Given the description of an element on the screen output the (x, y) to click on. 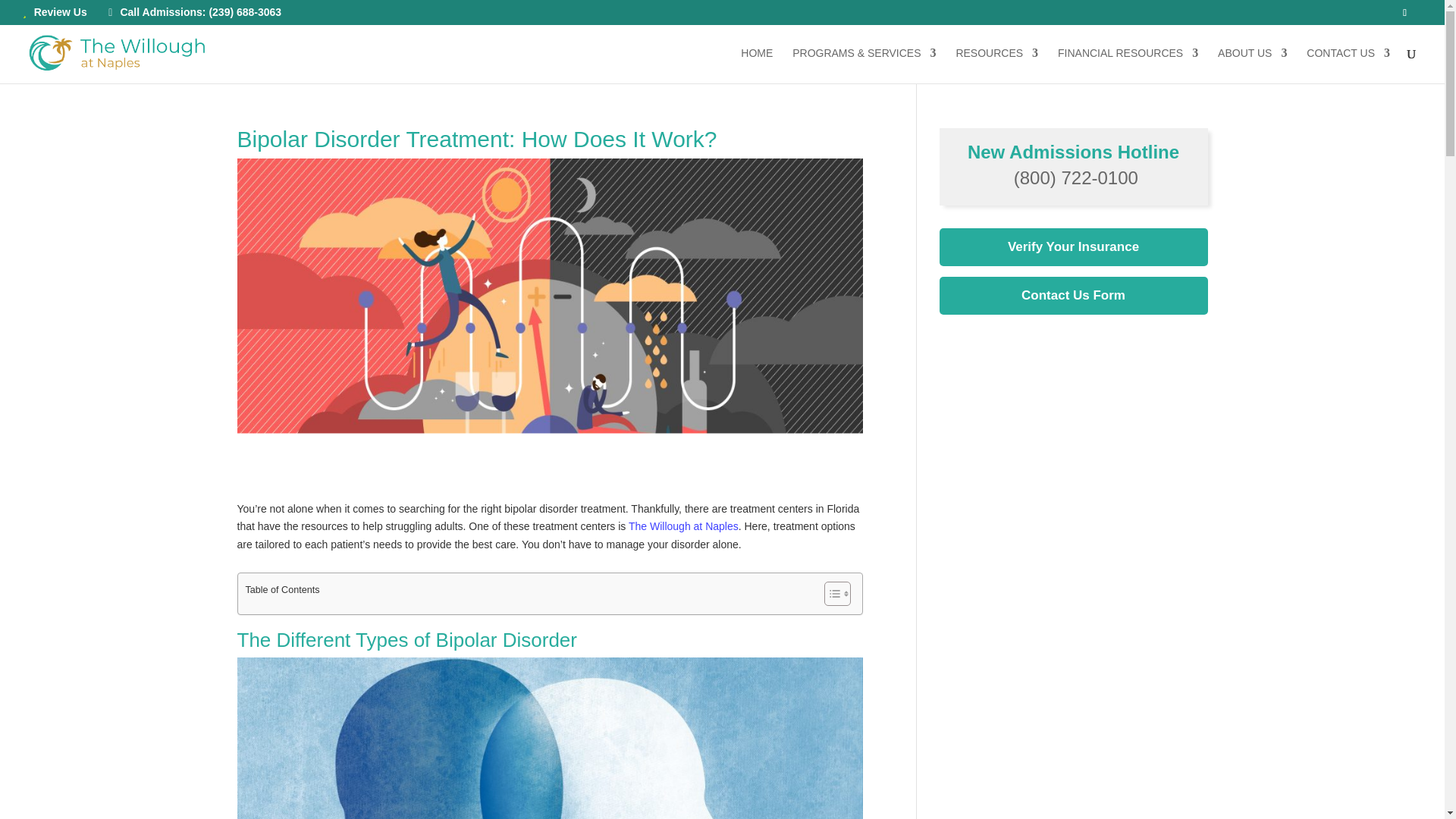
ABOUT US (1252, 65)
About Us (1252, 65)
Review Us (55, 16)
Financial Resources (1128, 65)
Home (757, 65)
Resources (996, 65)
CONTACT US (1348, 65)
The Willough at Naples (683, 526)
FINANCIAL RESOURCES (1128, 65)
RESOURCES (996, 65)
